Given the description of an element on the screen output the (x, y) to click on. 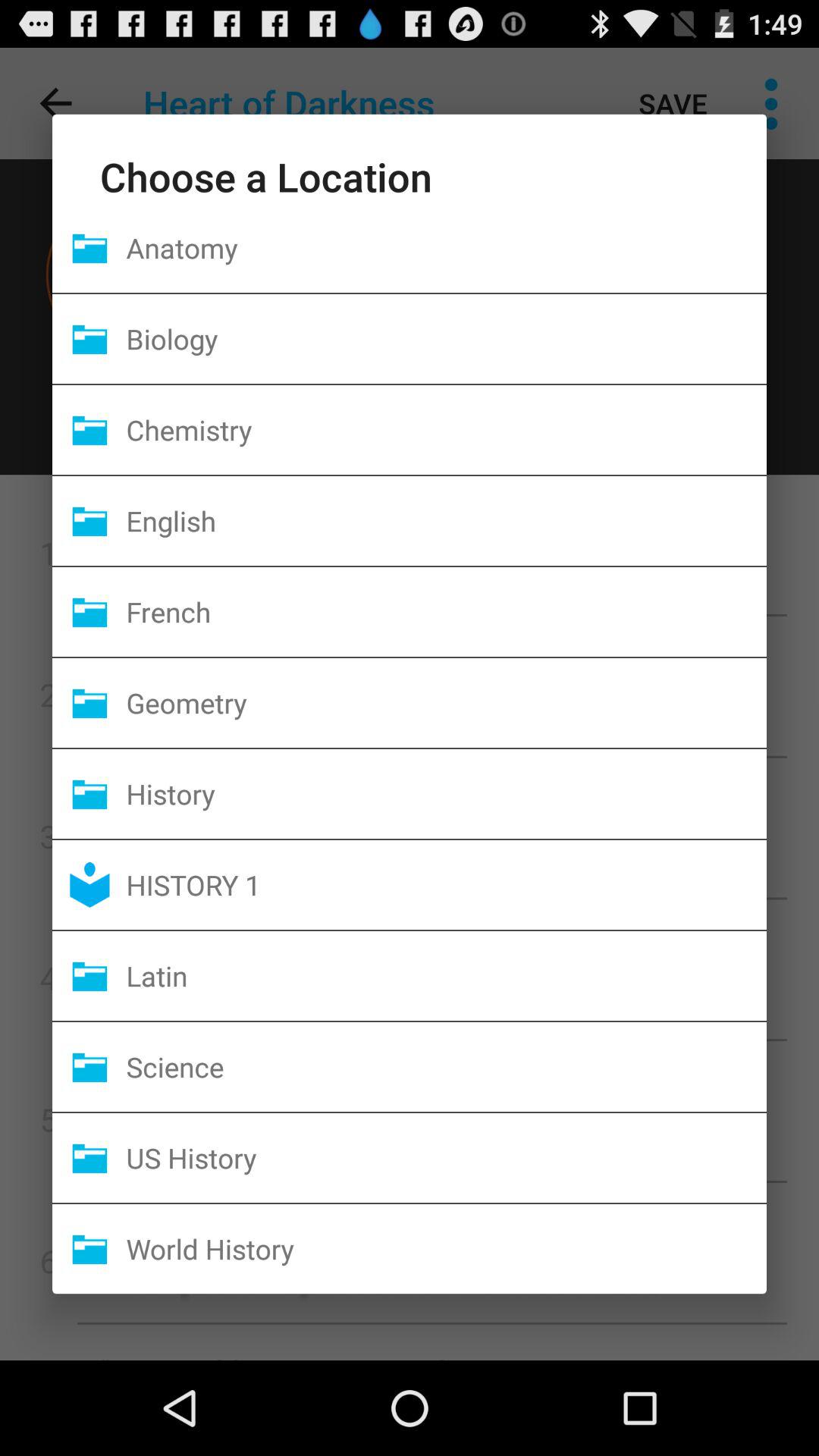
flip until the english icon (446, 520)
